Given the description of an element on the screen output the (x, y) to click on. 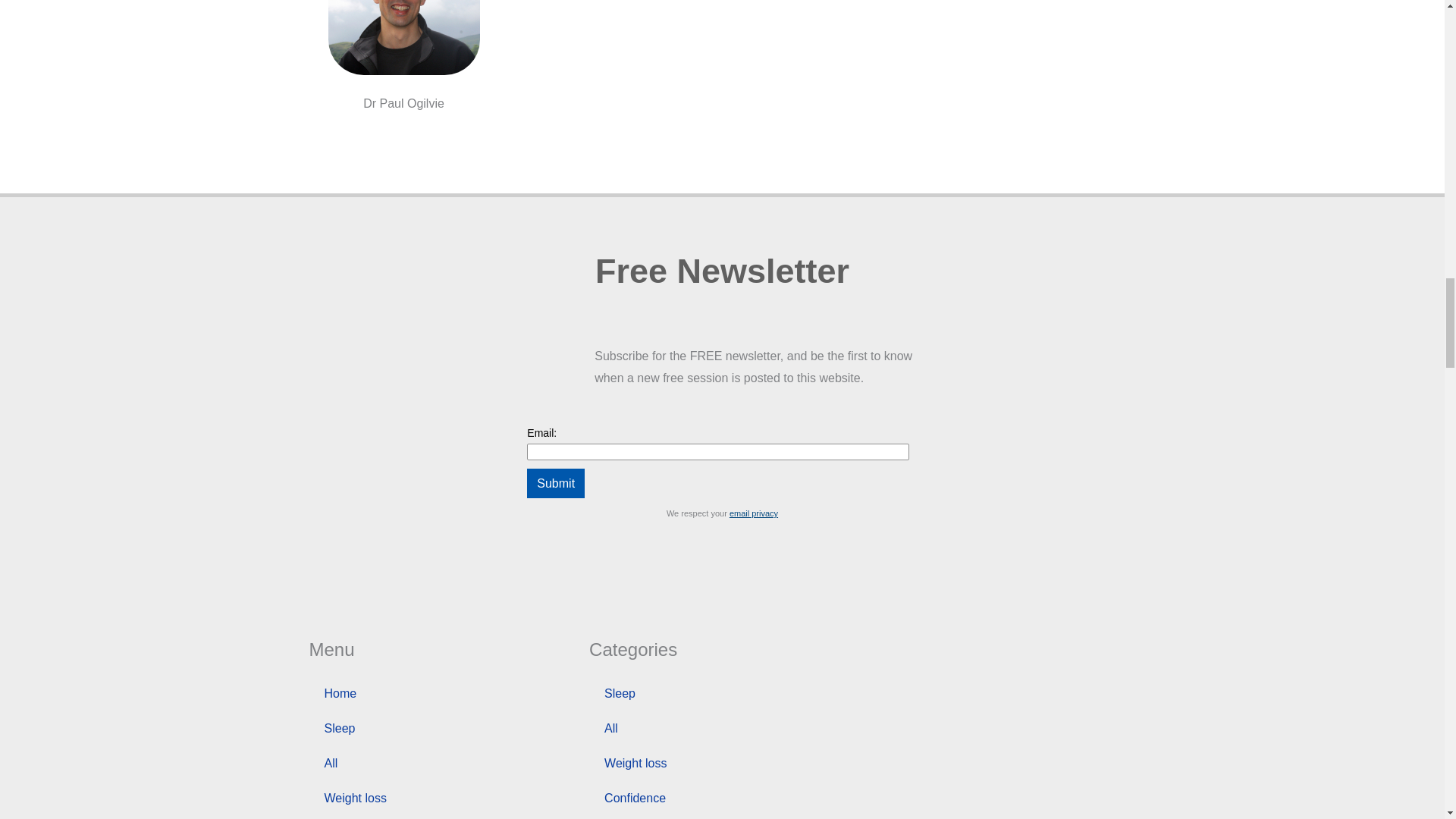
Sleep (437, 728)
Home (437, 693)
Submit (556, 483)
email privacy (753, 512)
Submit (556, 483)
